Given the description of an element on the screen output the (x, y) to click on. 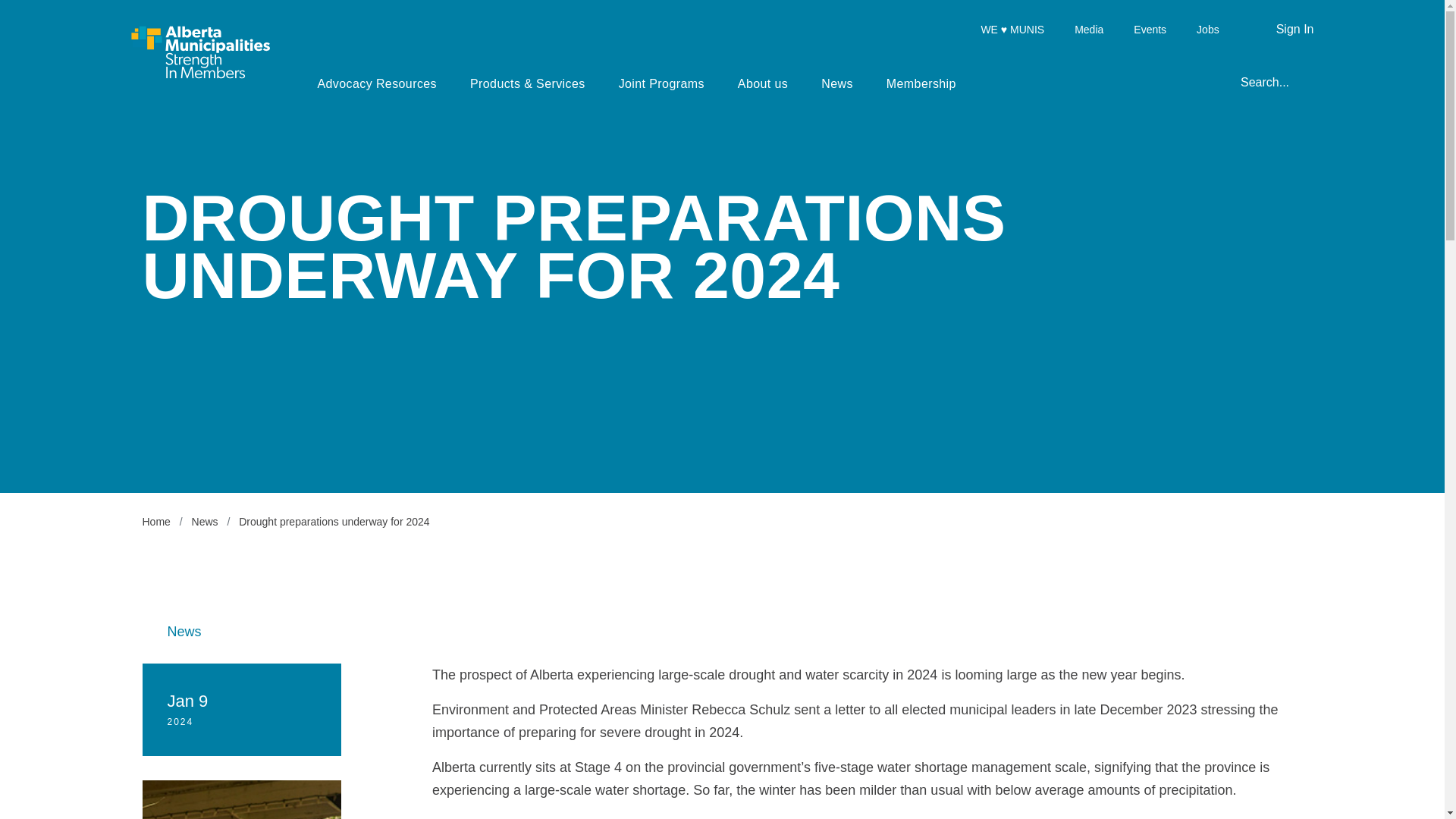
Tuesday, January 9, 2024 - 12:12 (180, 721)
Advocacy Resources (375, 81)
Tuesday, January 9, 2024 - 12:12 (187, 700)
SKIP TO MAIN CONTENT (17, 18)
